Given the description of an element on the screen output the (x, y) to click on. 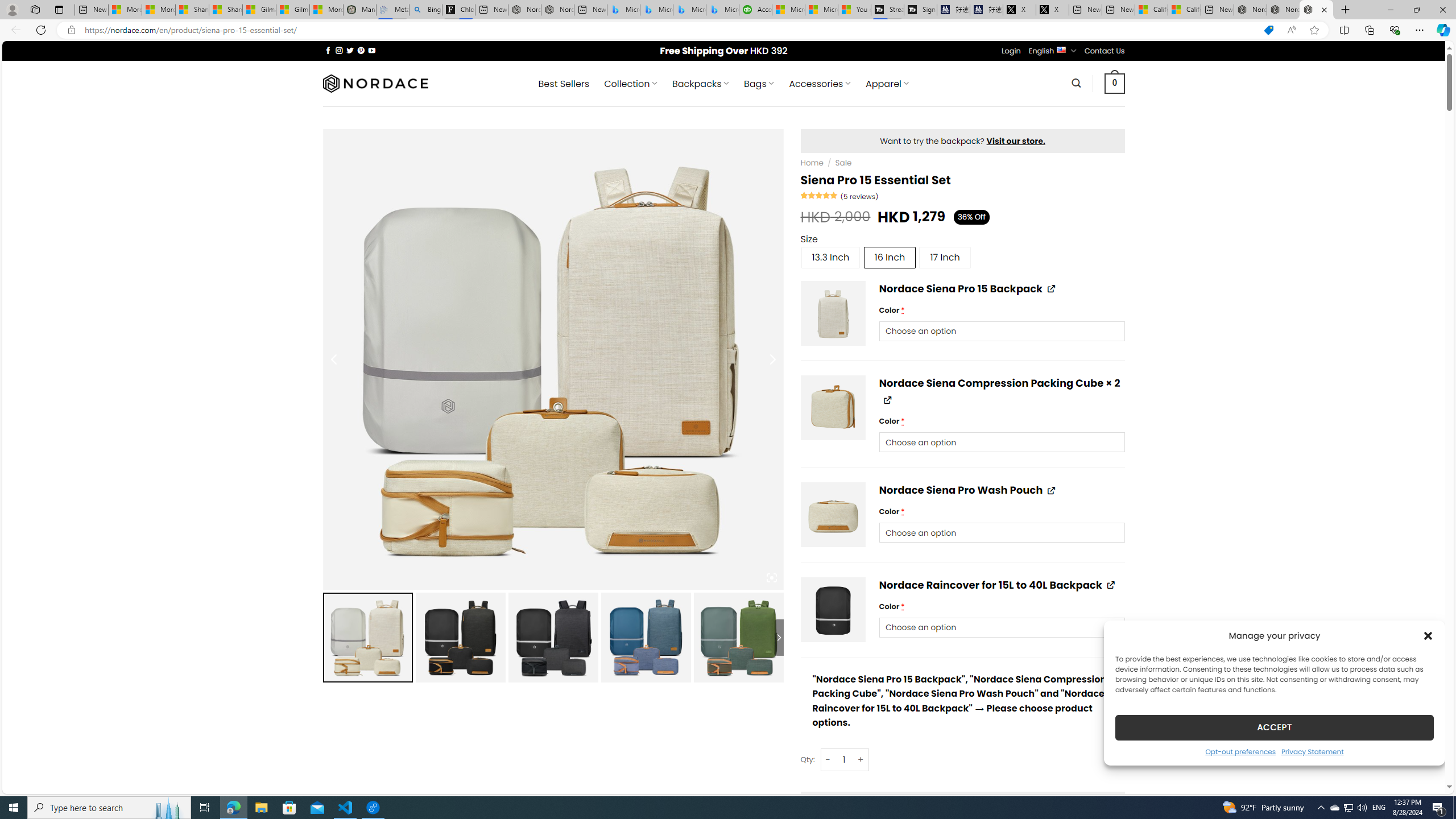
Opt-out preferences (1240, 750)
Privacy Statement (1312, 750)
Follow on Pinterest (360, 49)
Rated 5.00 out of 5 (819, 194)
Class: cmplz-close (1428, 635)
 0  (1115, 83)
+ (861, 759)
